Given the description of an element on the screen output the (x, y) to click on. 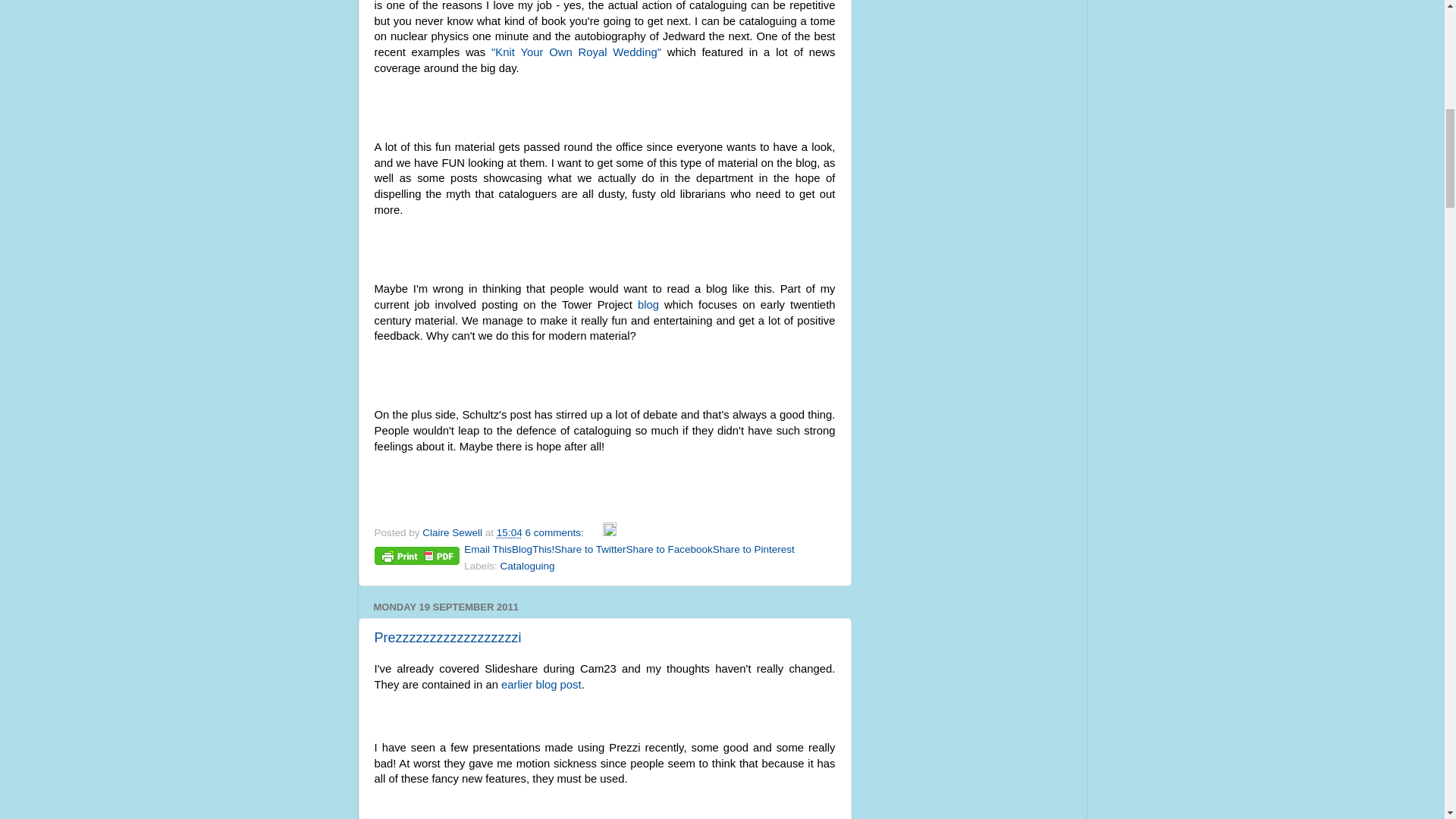
Share to Pinterest (753, 549)
"Knit Your Own Royal Wedding" (576, 51)
permanent link (509, 532)
Printer Friendly and PDF (417, 558)
Share to Twitter (590, 549)
Cataloguing (527, 565)
Email This (488, 549)
Email Post (594, 532)
6 comments: (555, 532)
earlier blog post (540, 684)
Share to Facebook (669, 549)
15:04 (509, 532)
BlogThis! (533, 549)
BlogThis! (533, 549)
Email This (488, 549)
